Given the description of an element on the screen output the (x, y) to click on. 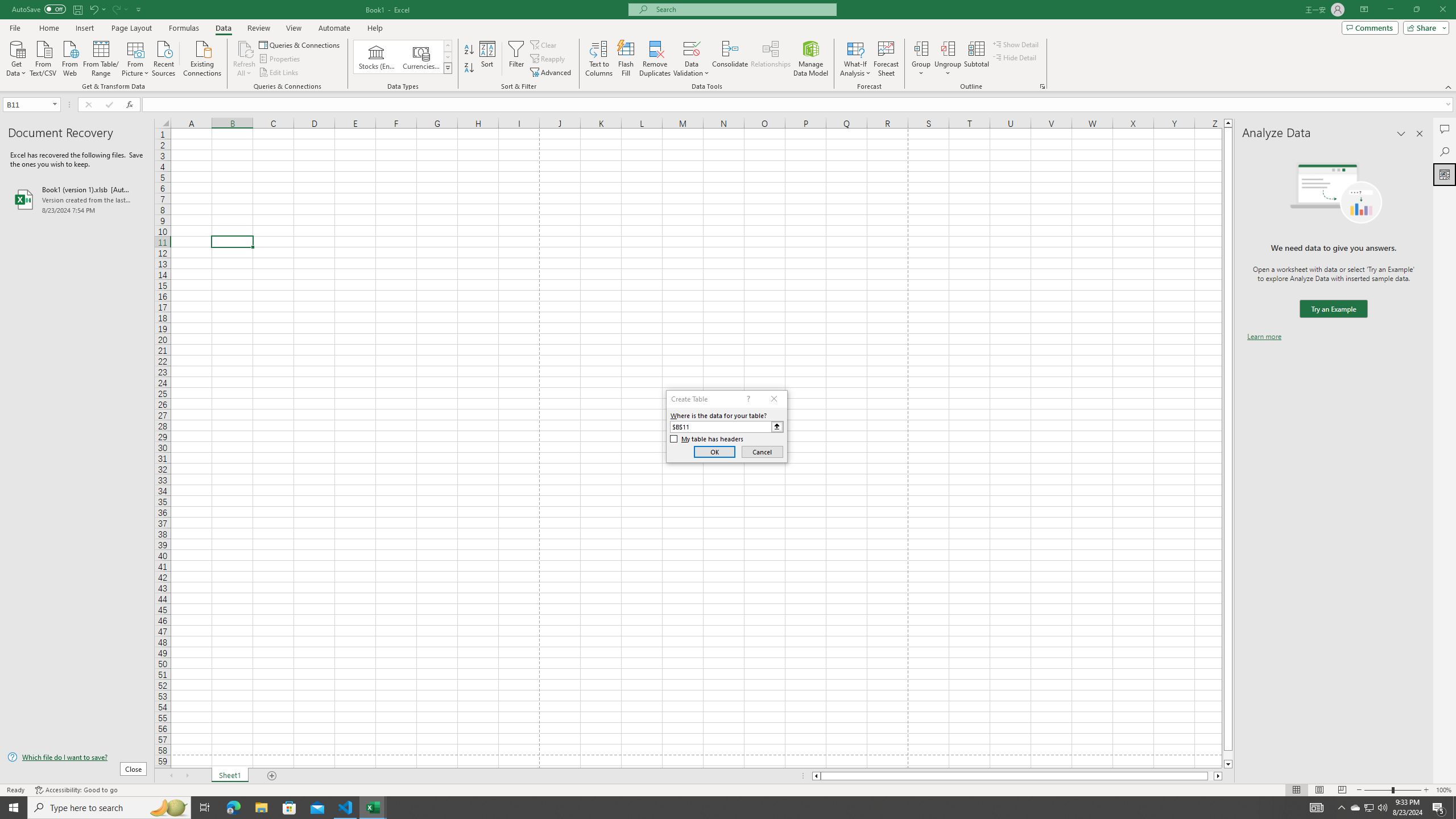
Forecast Sheet (885, 58)
AutomationID: ConvertToLinkedEntity (403, 56)
AutoSave (38, 9)
Clear (544, 44)
Help (374, 28)
Ungroup... (947, 58)
Line up (1228, 122)
Show Detail (1016, 44)
Data Validation... (691, 48)
Recent Sources (163, 57)
Save (77, 9)
Sort Z to A (469, 67)
From Picture (135, 57)
